Given the description of an element on the screen output the (x, y) to click on. 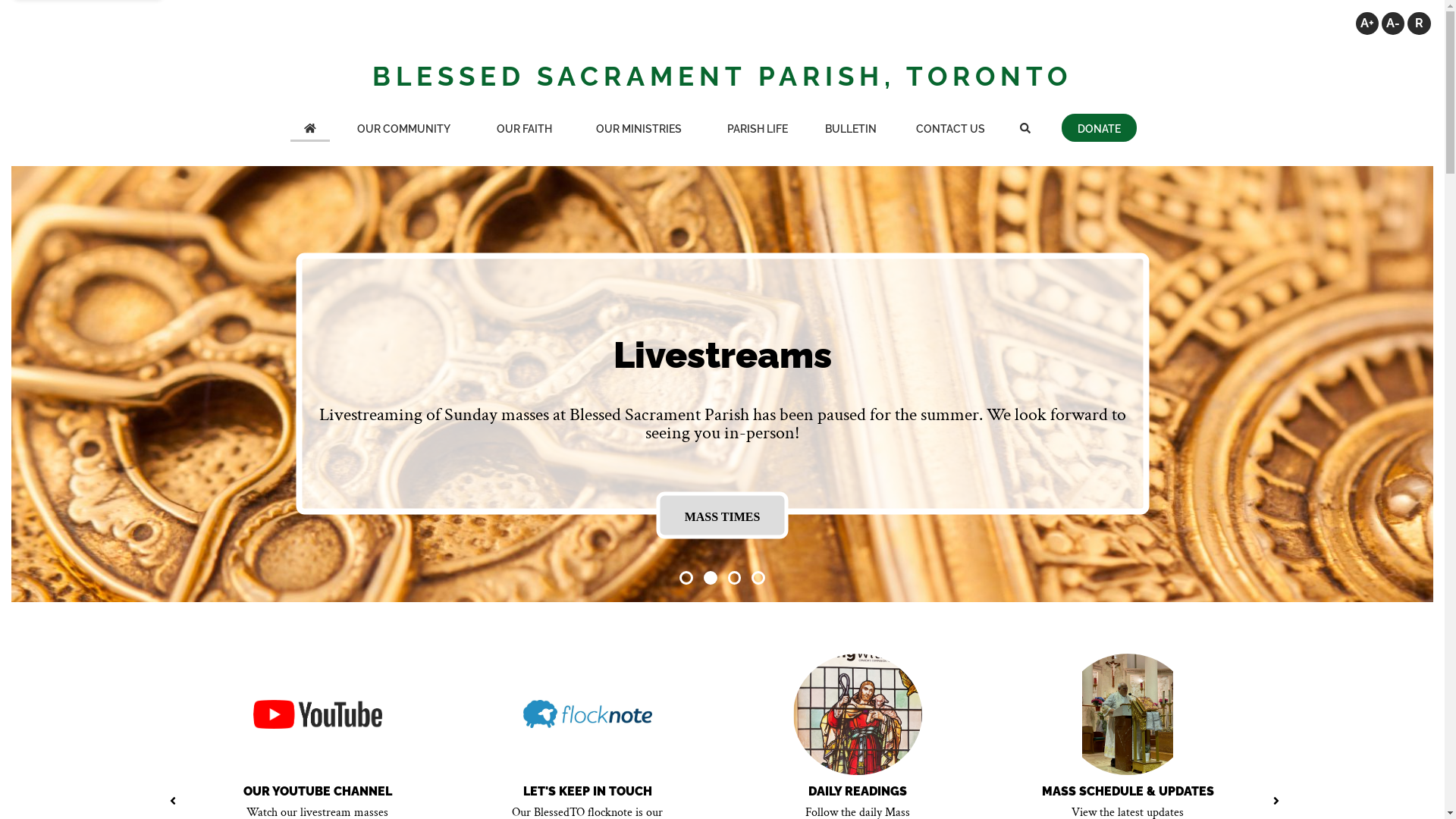
DONATE Element type: text (1098, 127)
Flocknote Logo Element type: hover (587, 714)
R Element type: text (1418, 23)
OUR COMMUNITY Element type: text (403, 129)
Fr. Larry Blessed Sacrament Element type: hover (1127, 714)
FIND OUT MORE Element type: text (722, 515)
Home Element type: hover (309, 129)
A- Element type: text (1392, 23)
OUR FAITH Element type: text (523, 129)
Search Element type: hover (1025, 129)
First Communion Element type: hover (722, 384)
YouTube Logo Element type: hover (317, 714)
BULLETIN Element type: text (850, 129)
Living With Christ Cover Element type: hover (857, 714)
A+ Element type: text (1366, 23)
OUR MINISTRIES Element type: text (638, 129)
CONTACT US Element type: text (950, 129)
PARISH LIFE Element type: text (756, 129)
